Given the description of an element on the screen output the (x, y) to click on. 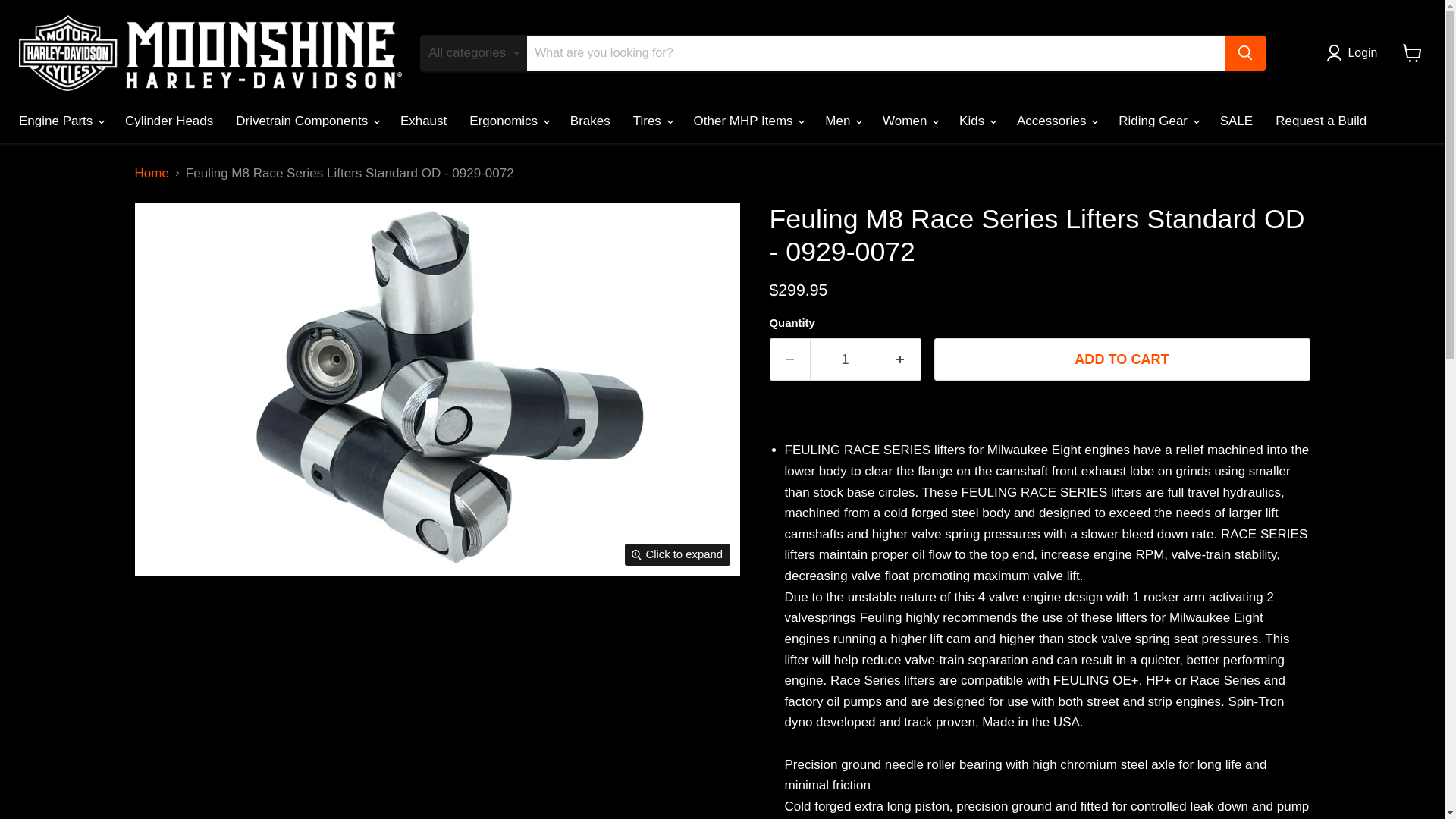
Cylinder Heads (168, 120)
Login (1355, 53)
1 (844, 359)
View cart (1411, 52)
